Given the description of an element on the screen output the (x, y) to click on. 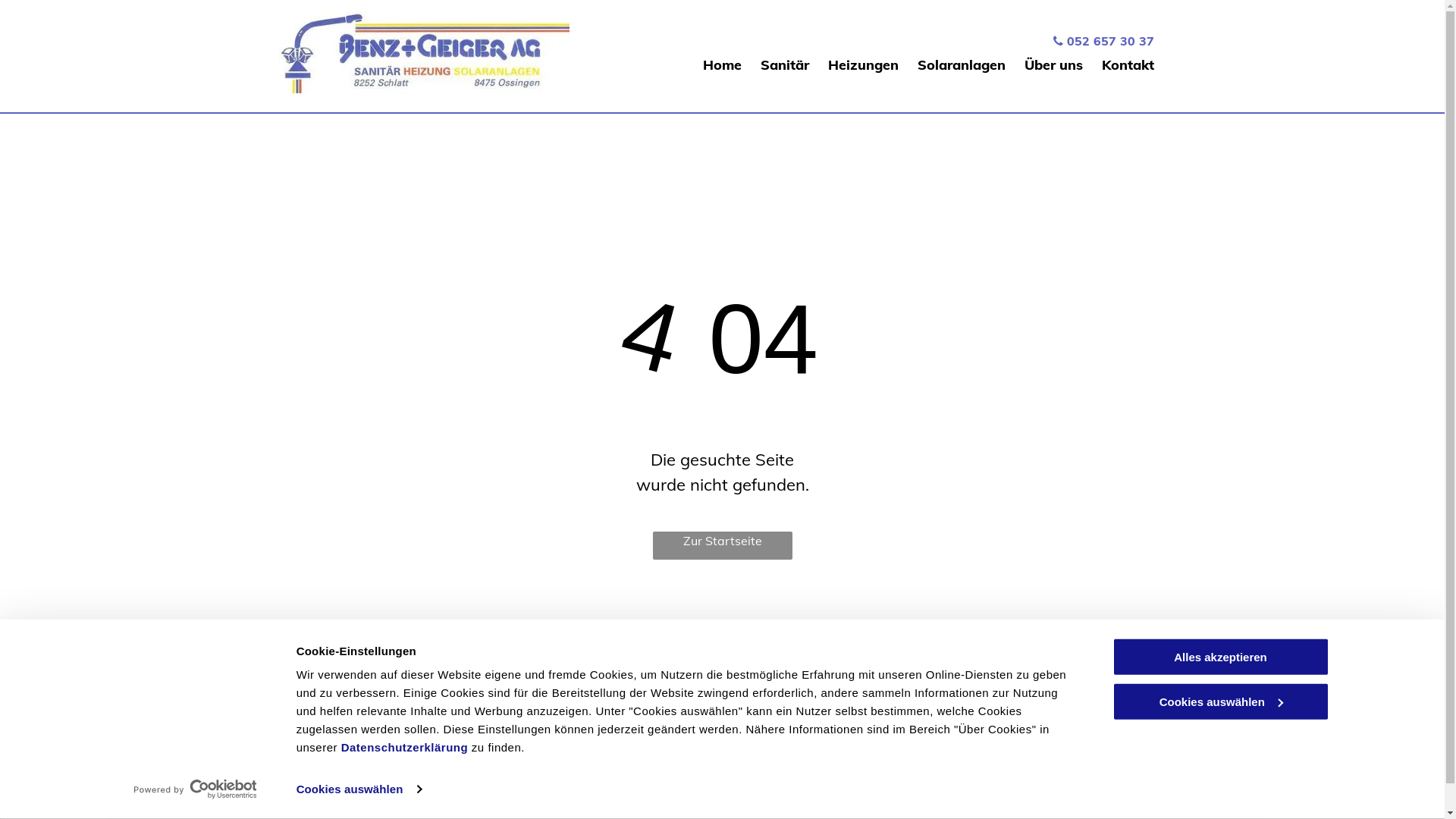
Solaranlagen Element type: text (961, 64)
Impressum Element type: text (1018, 704)
Home Element type: text (721, 64)
Alles akzeptieren Element type: text (1219, 656)
Cookies Element type: text (86, 780)
052 657 30 37 Element type: text (727, 704)
Zur Startseite Element type: text (721, 545)
Kontakt Element type: text (1127, 64)
info@benz-geiger.ch Element type: text (729, 749)
Heizungen Element type: text (863, 64)
